Given the description of an element on the screen output the (x, y) to click on. 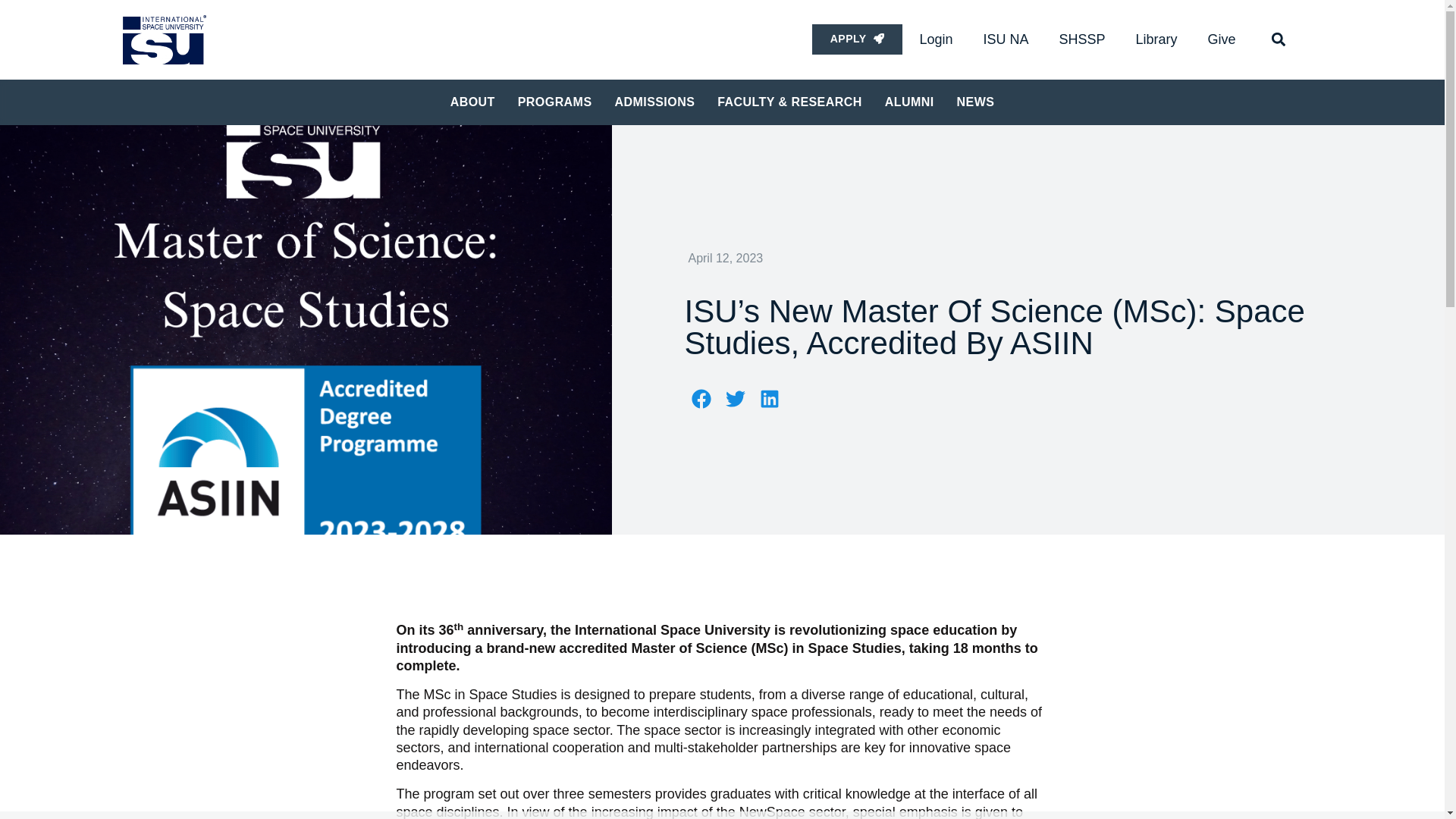
Library (1156, 39)
ADMISSIONS (654, 102)
APPLY (857, 39)
ABOUT (472, 102)
ISU NA (1005, 39)
Login (936, 39)
Give (1221, 39)
PROGRAMS (555, 102)
SHSSP (1082, 39)
